Given the description of an element on the screen output the (x, y) to click on. 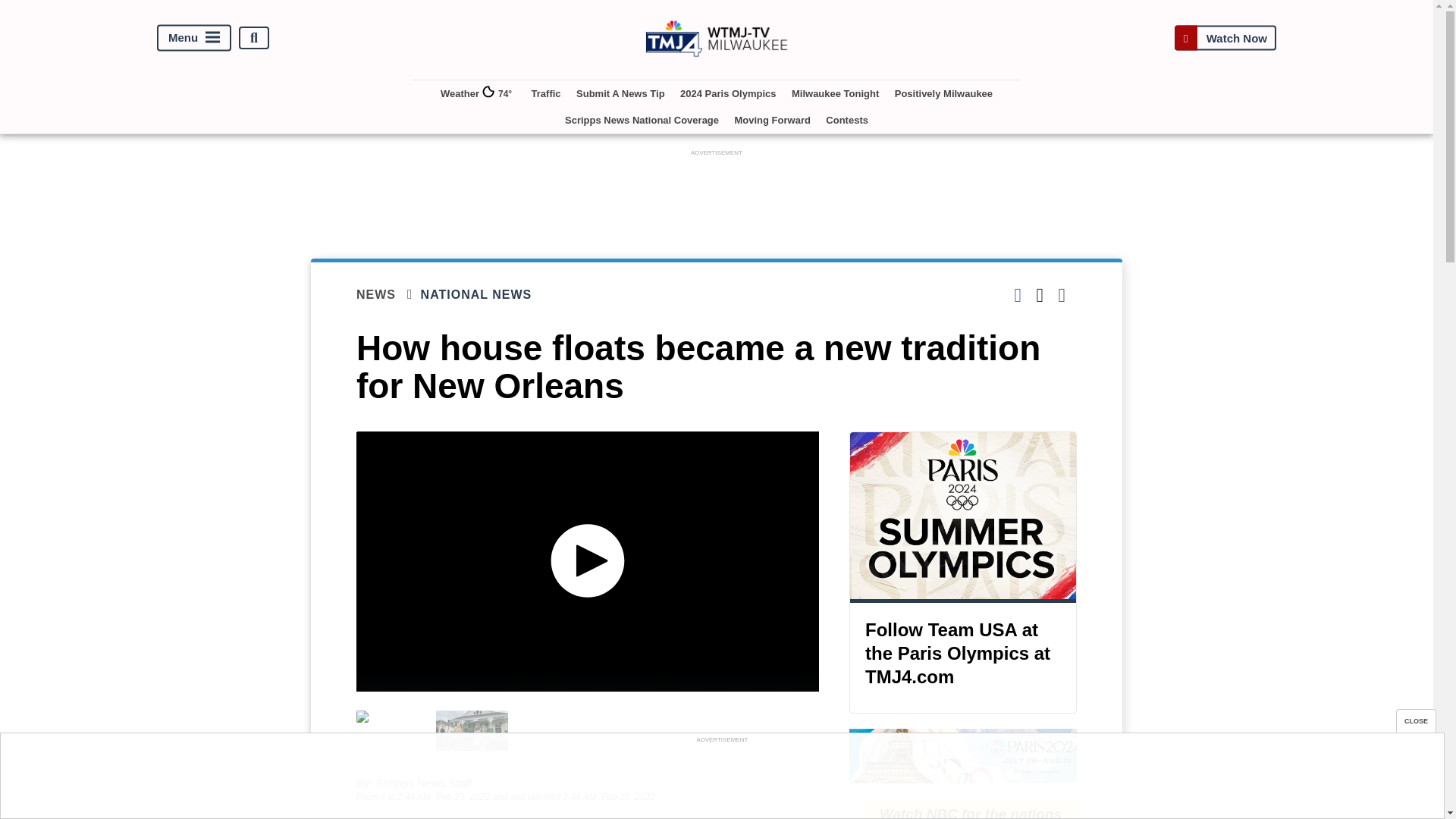
3rd party ad content (721, 780)
Watch Now (1224, 38)
Menu (194, 38)
3rd party ad content (716, 193)
